Given the description of an element on the screen output the (x, y) to click on. 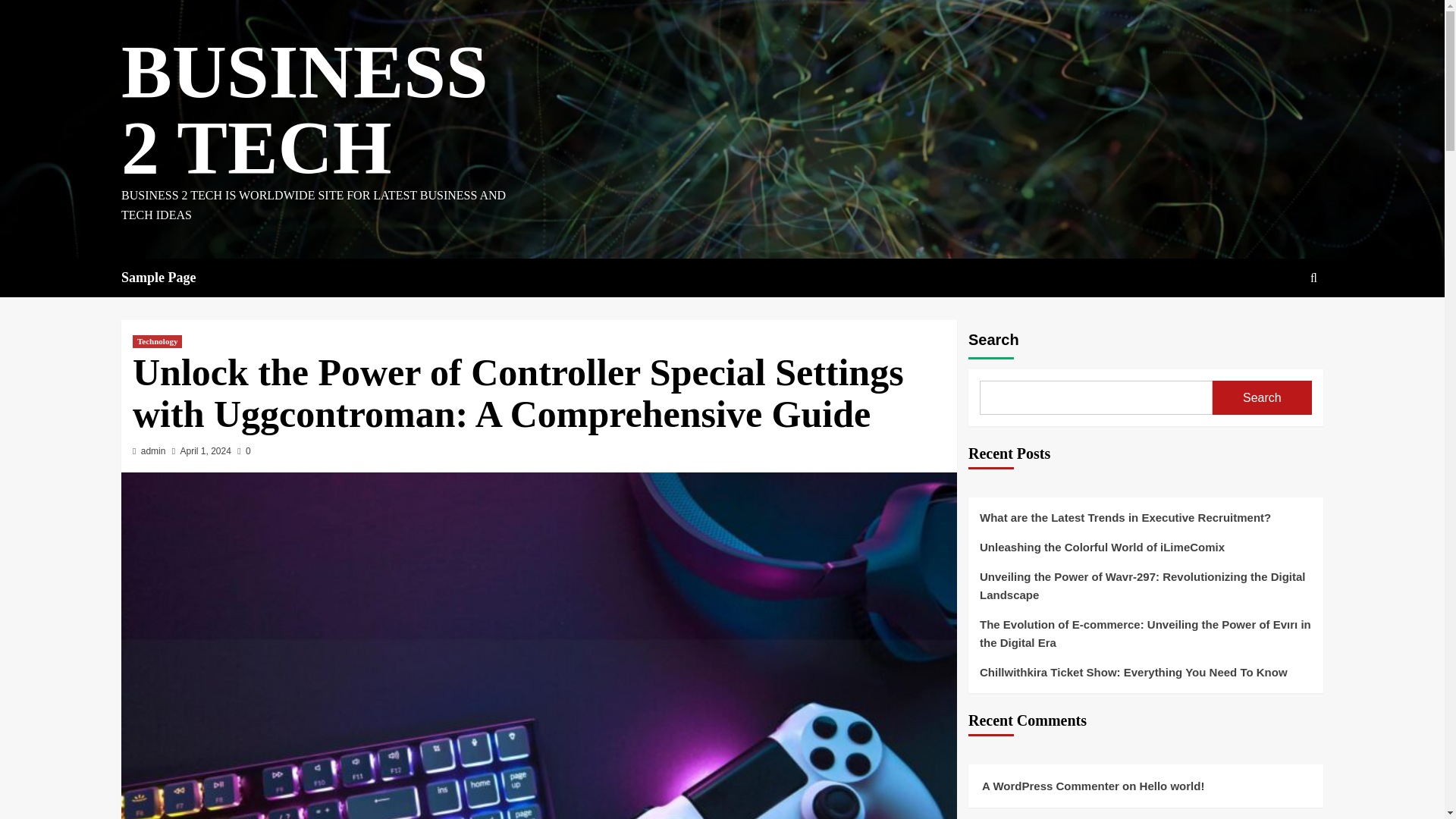
0 (243, 450)
April 1, 2024 (205, 450)
admin (153, 450)
Sample Page (167, 277)
BUSINESS 2 TECH (303, 109)
Search (1313, 277)
Search (1278, 324)
Technology (157, 341)
Search (1261, 397)
